Given the description of an element on the screen output the (x, y) to click on. 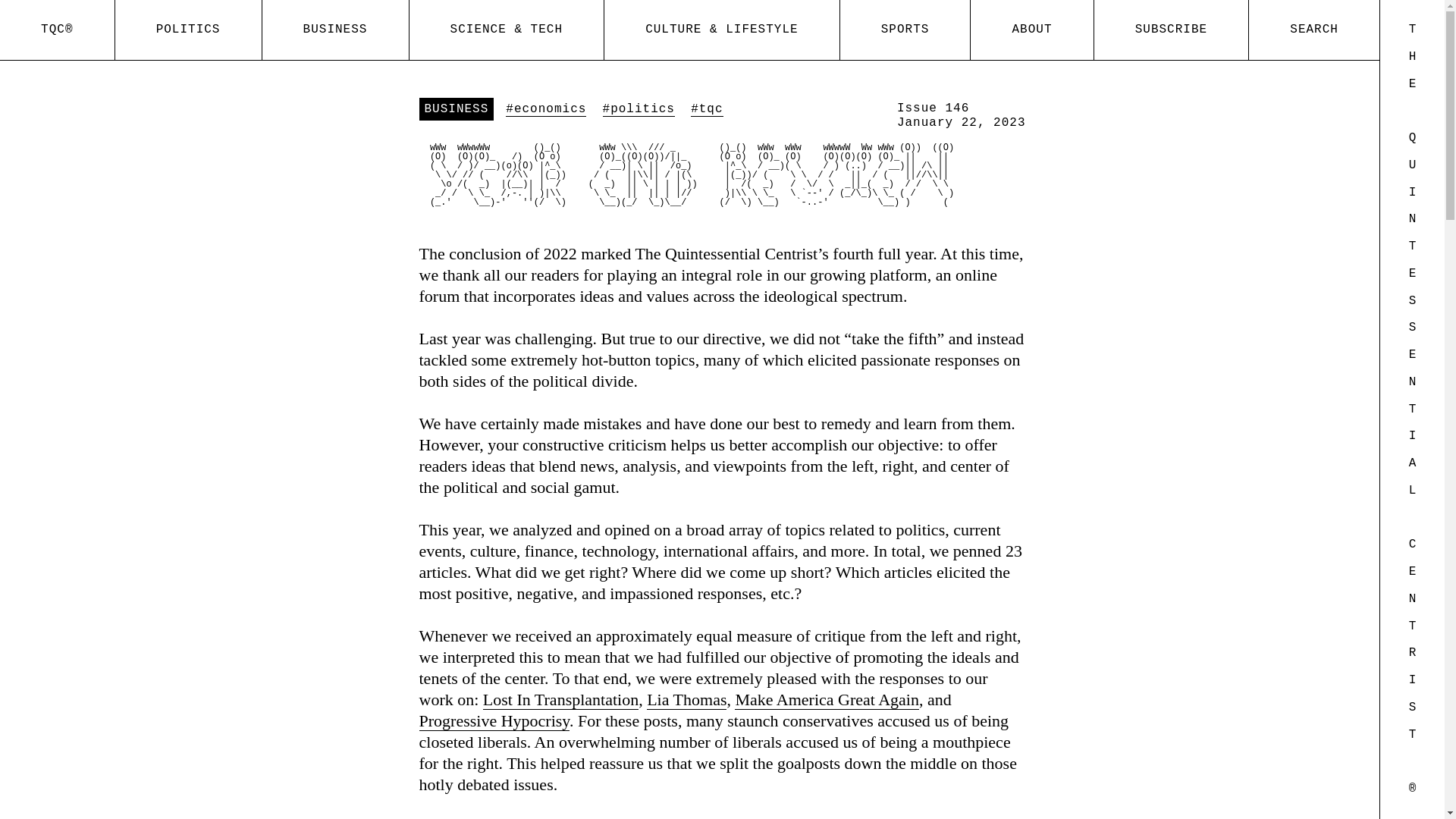
ABOUT (1032, 29)
Progressive Hypocrisy (494, 721)
Make America Great Again (826, 700)
SUBSCRIBE (1171, 29)
Lost In Transplantation (561, 700)
Lia Thomas (686, 700)
POLITICS (188, 29)
BUSINESS (335, 29)
SPORTS (905, 29)
